Given the description of an element on the screen output the (x, y) to click on. 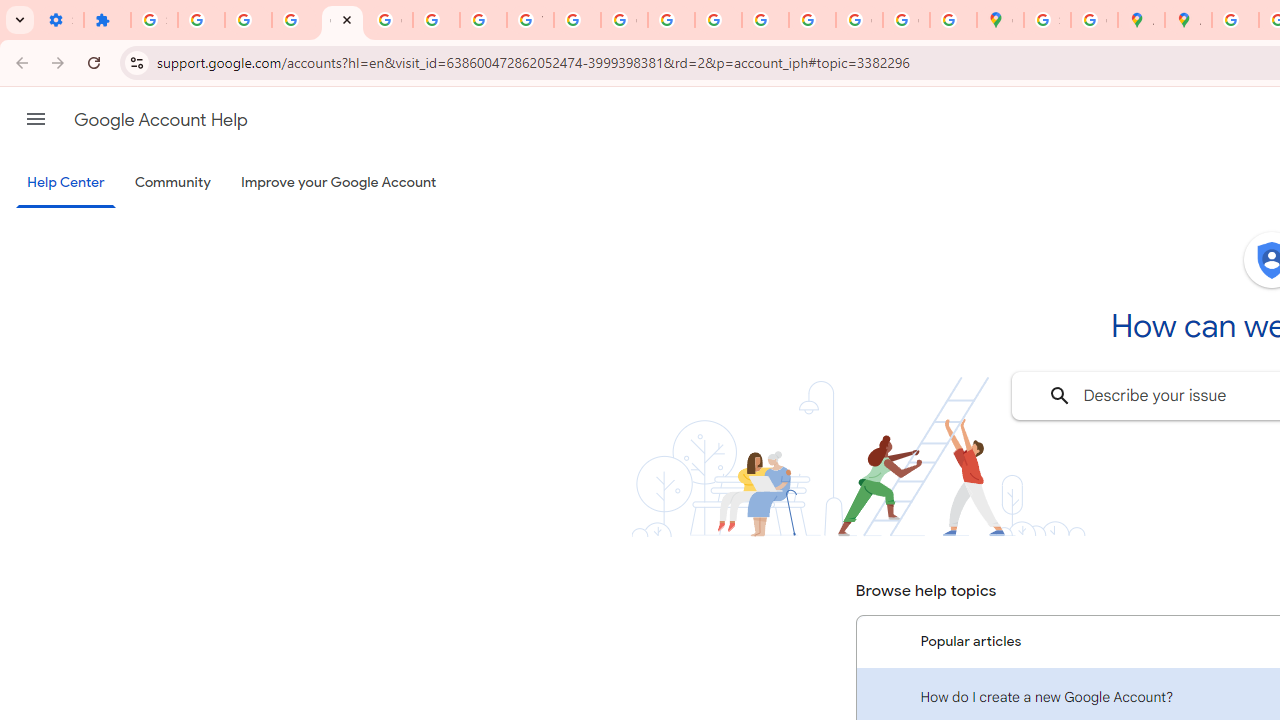
Delete photos & videos - Computer - Google Photos Help (201, 20)
Google Account Help (342, 20)
